Given the description of an element on the screen output the (x, y) to click on. 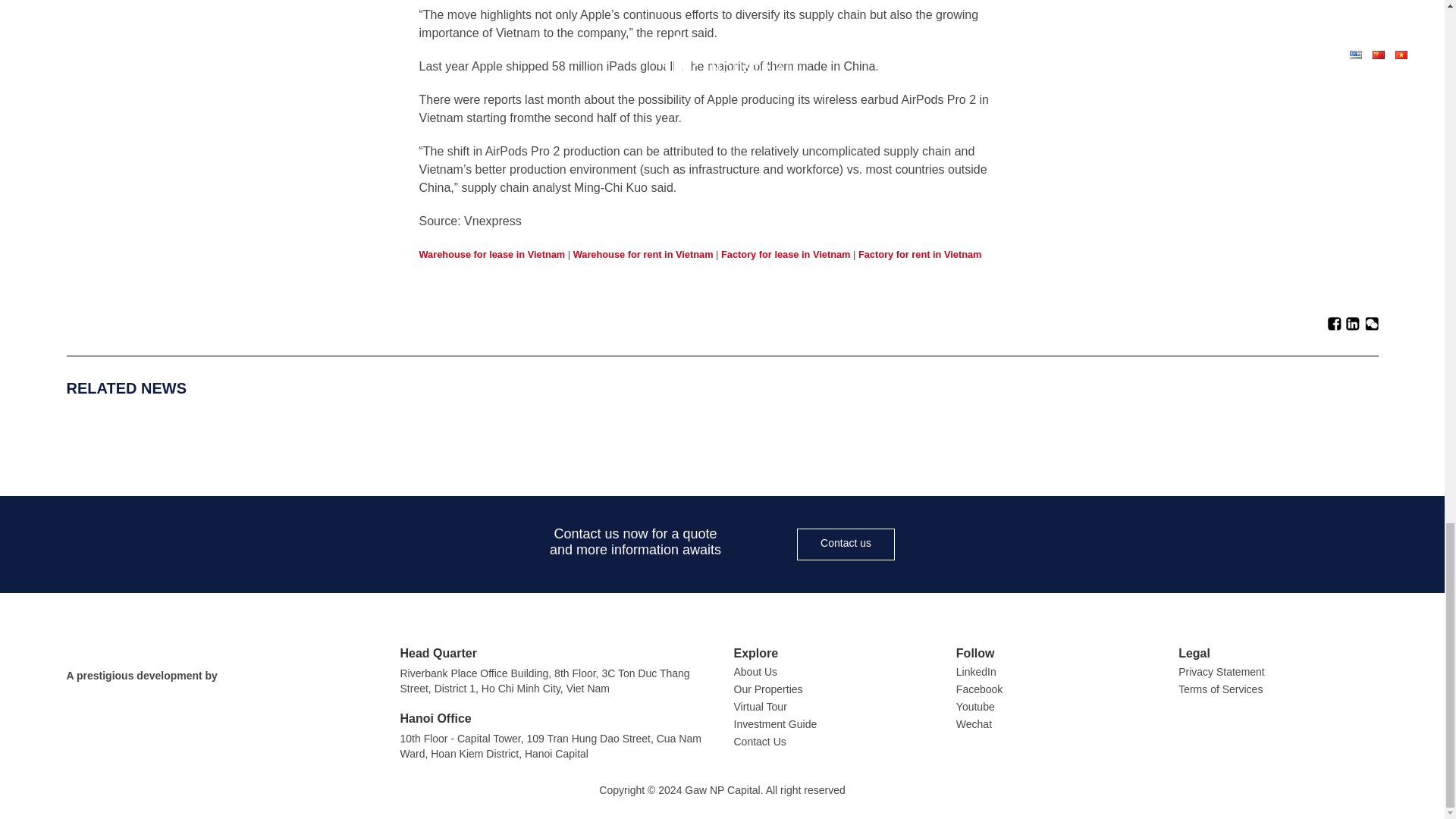
Factory for lease in Vietnam (785, 254)
Factory for rent in Vietnam (920, 254)
Warehouse for lease in Vietnam (491, 254)
Warehouse for rent in Vietnam (643, 254)
Factory for lease in Vietnam (785, 254)
Warehouse for lease in Vietnam (491, 254)
Factory for rent in Vietnam (920, 254)
Warehouse for rent in Vietnam (643, 254)
